Given the description of an element on the screen output the (x, y) to click on. 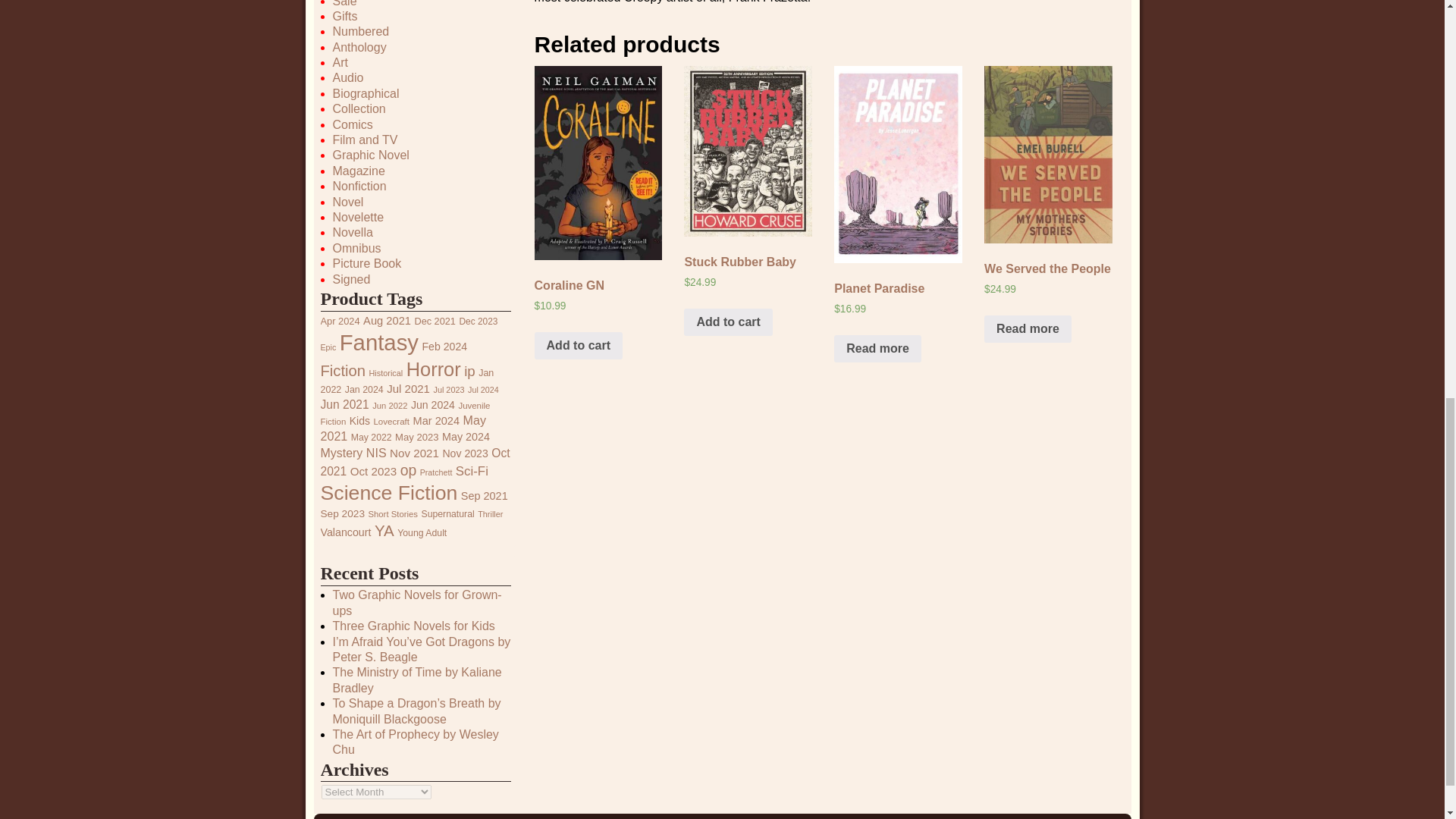
Read more (877, 348)
Add to cart (727, 321)
Read more (1027, 329)
Add to cart (578, 345)
